Given the description of an element on the screen output the (x, y) to click on. 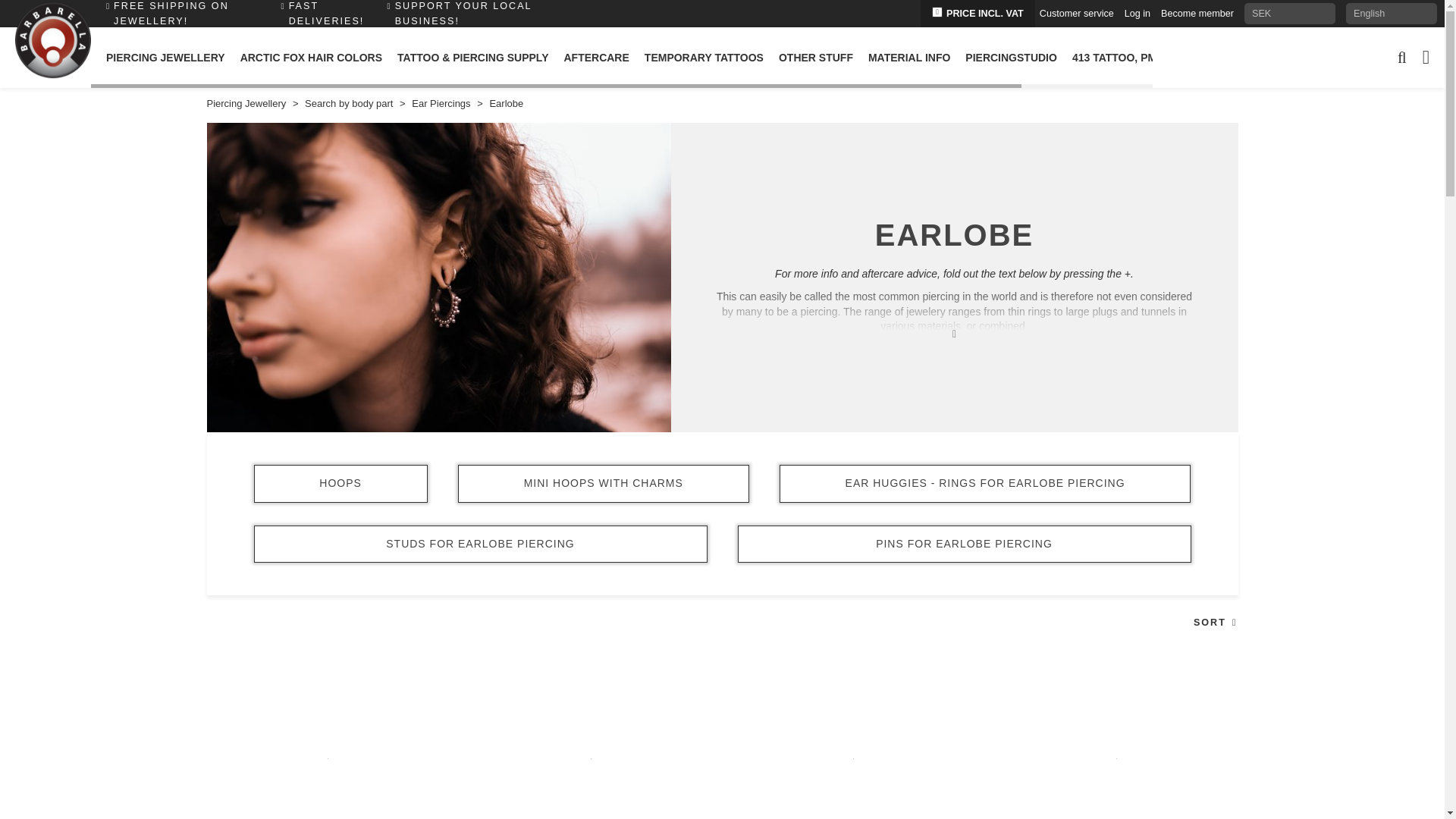
Become member (1196, 13)
PIERCING JEWELLERY (165, 57)
Customer service (1076, 13)
Log in (1137, 13)
PRICE INCL. VAT (977, 13)
Barbarella.se (52, 40)
